Given the description of an element on the screen output the (x, y) to click on. 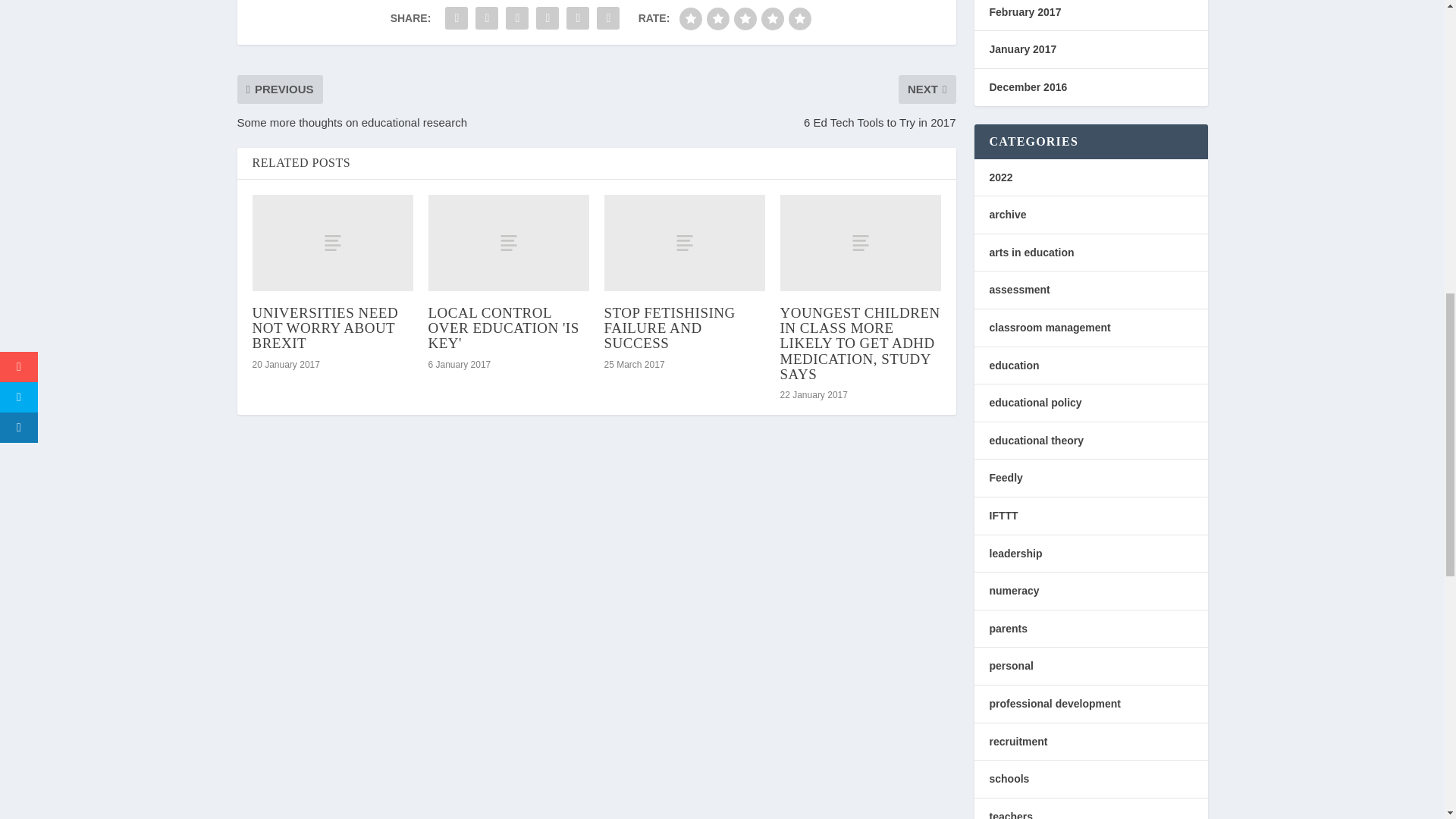
good (772, 18)
Stop Fetishising Failure and Success (684, 242)
poor (717, 18)
February 2017 (1024, 11)
regular (745, 18)
Local control over education 'is key' (508, 242)
Universities need not worry about Brexit (331, 242)
STOP FETISHISING FAILURE AND SUCCESS (669, 327)
